Given the description of an element on the screen output the (x, y) to click on. 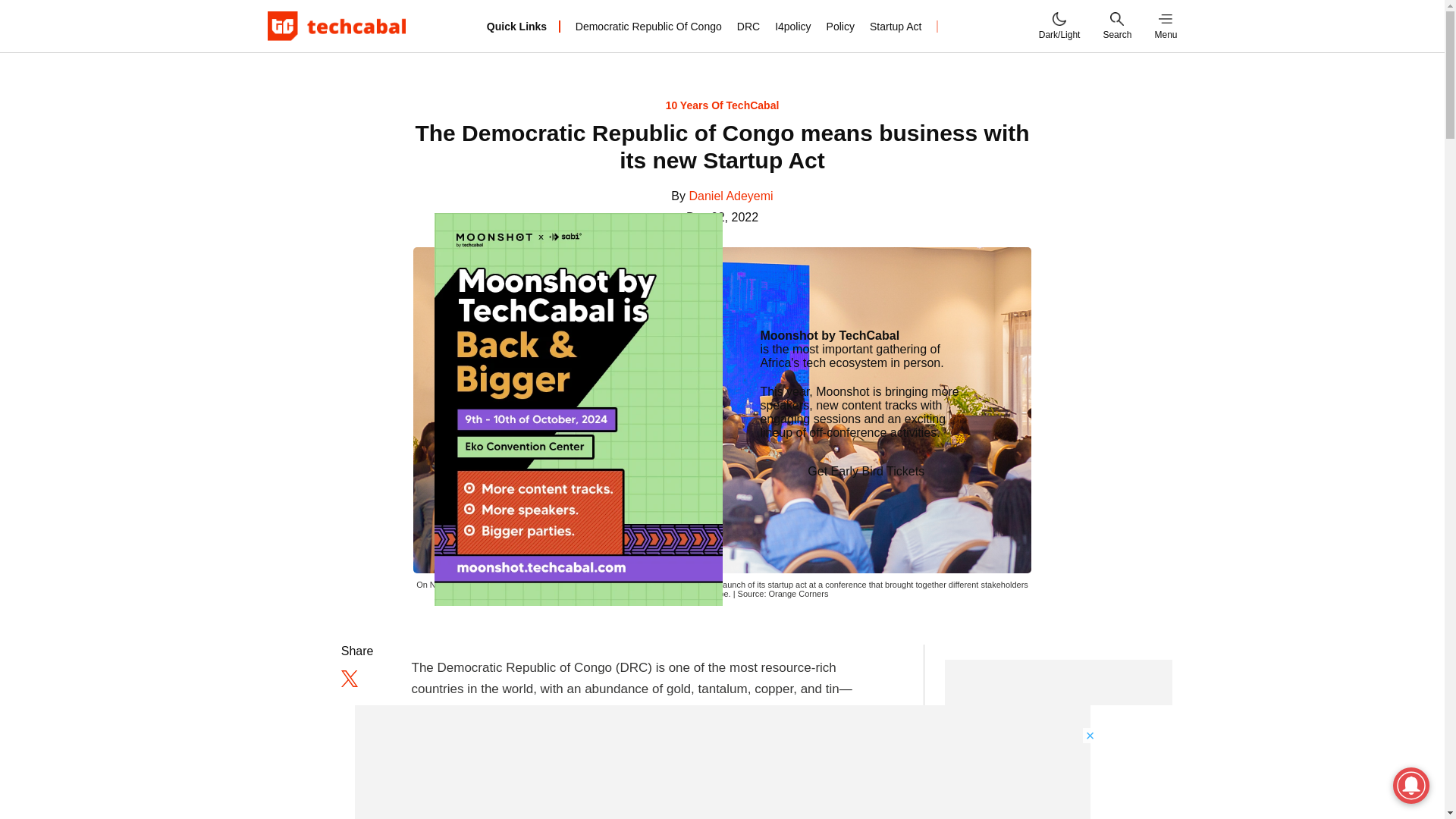
3rd party ad content (722, 762)
I4policy (792, 25)
Search (1116, 26)
Startup Act (895, 25)
Policy (840, 25)
3rd party ad content (1058, 739)
Democratic Republic Of Congo (648, 25)
DRC (748, 25)
Posts by Daniel Adeyemi (730, 195)
